Given the description of an element on the screen output the (x, y) to click on. 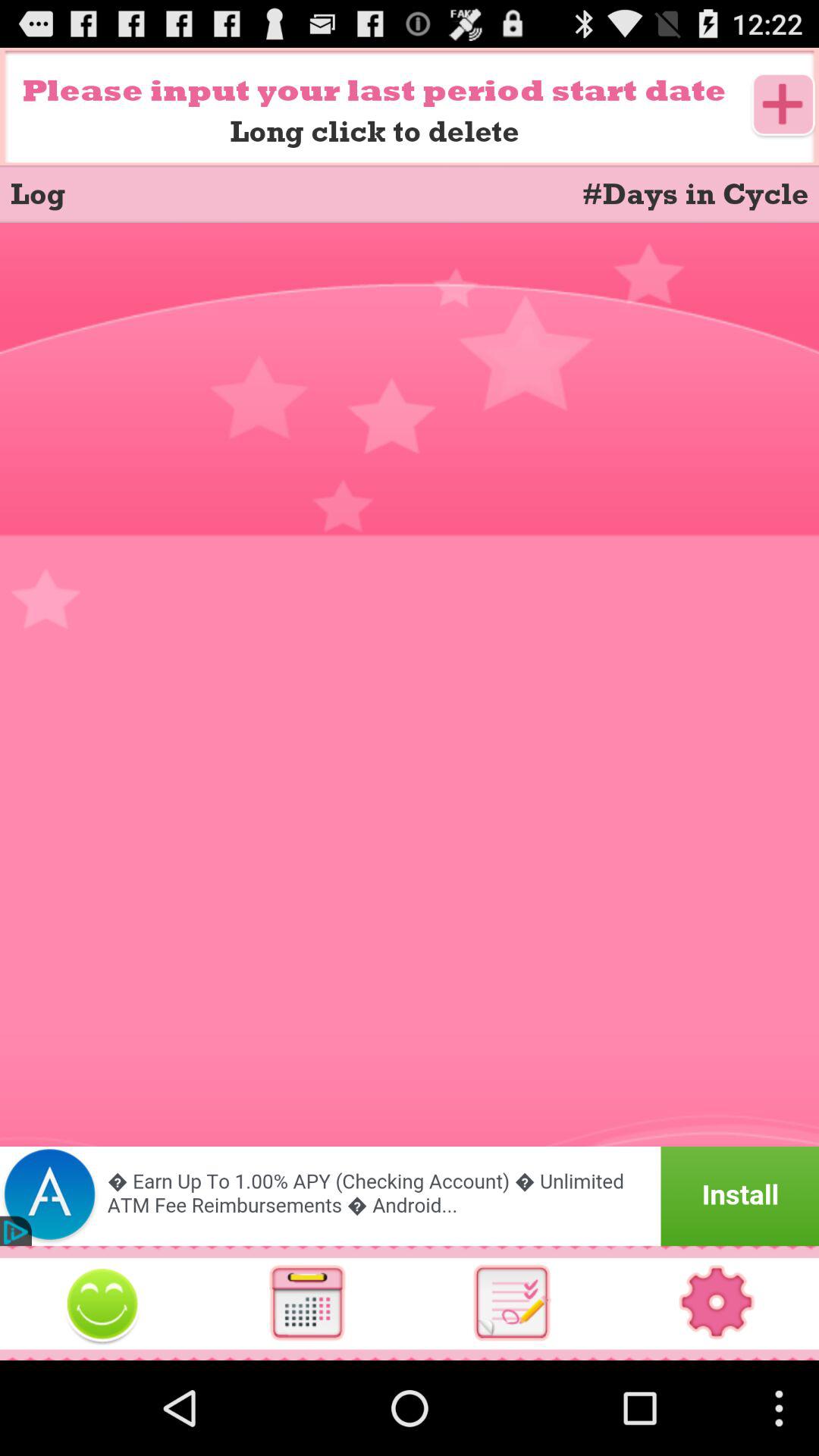
add date (784, 105)
